Given the description of an element on the screen output the (x, y) to click on. 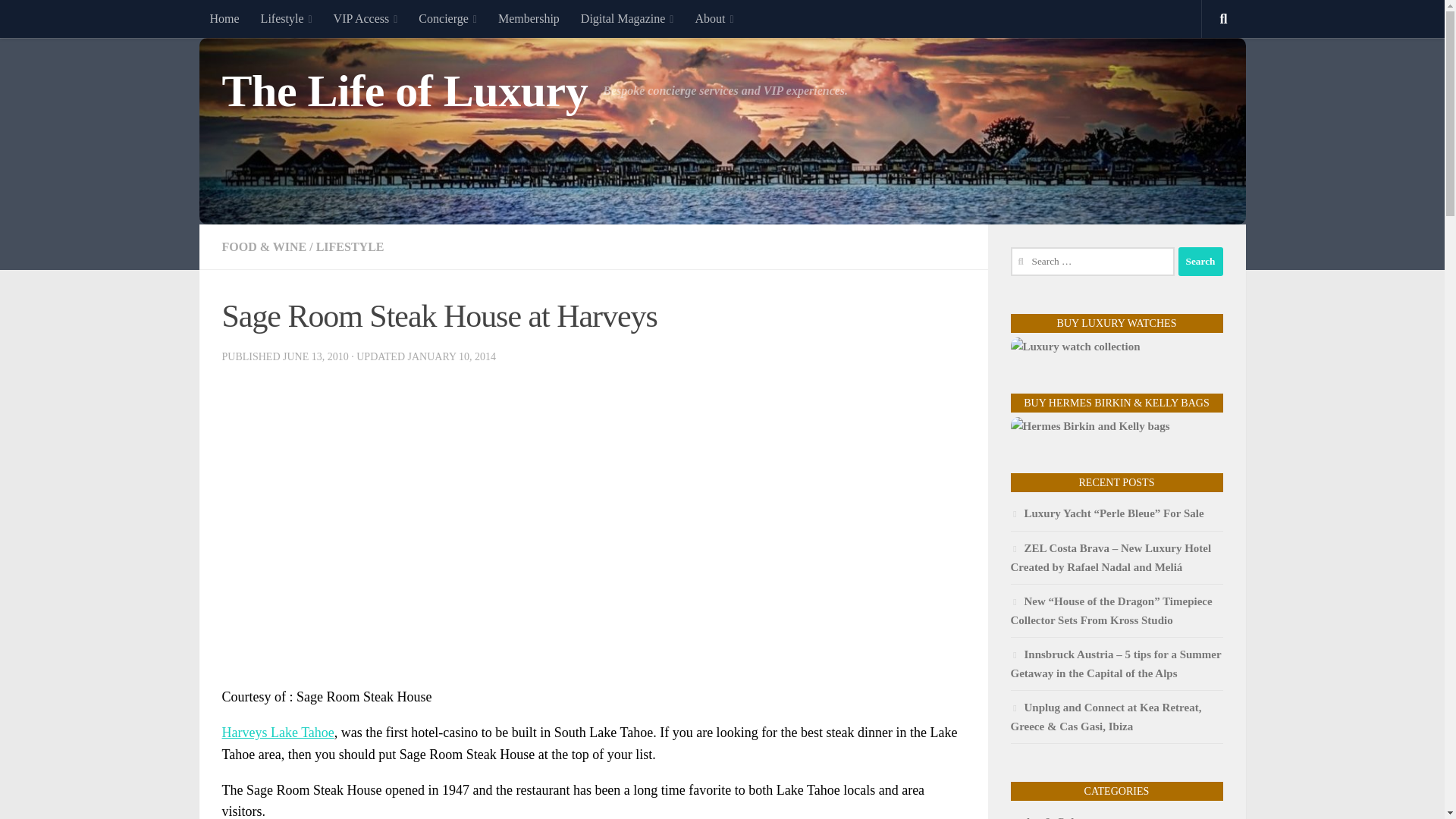
Search (1200, 261)
Harveys Lake Tahoe (277, 732)
Skip to content (59, 20)
Search (1200, 261)
